Given the description of an element on the screen output the (x, y) to click on. 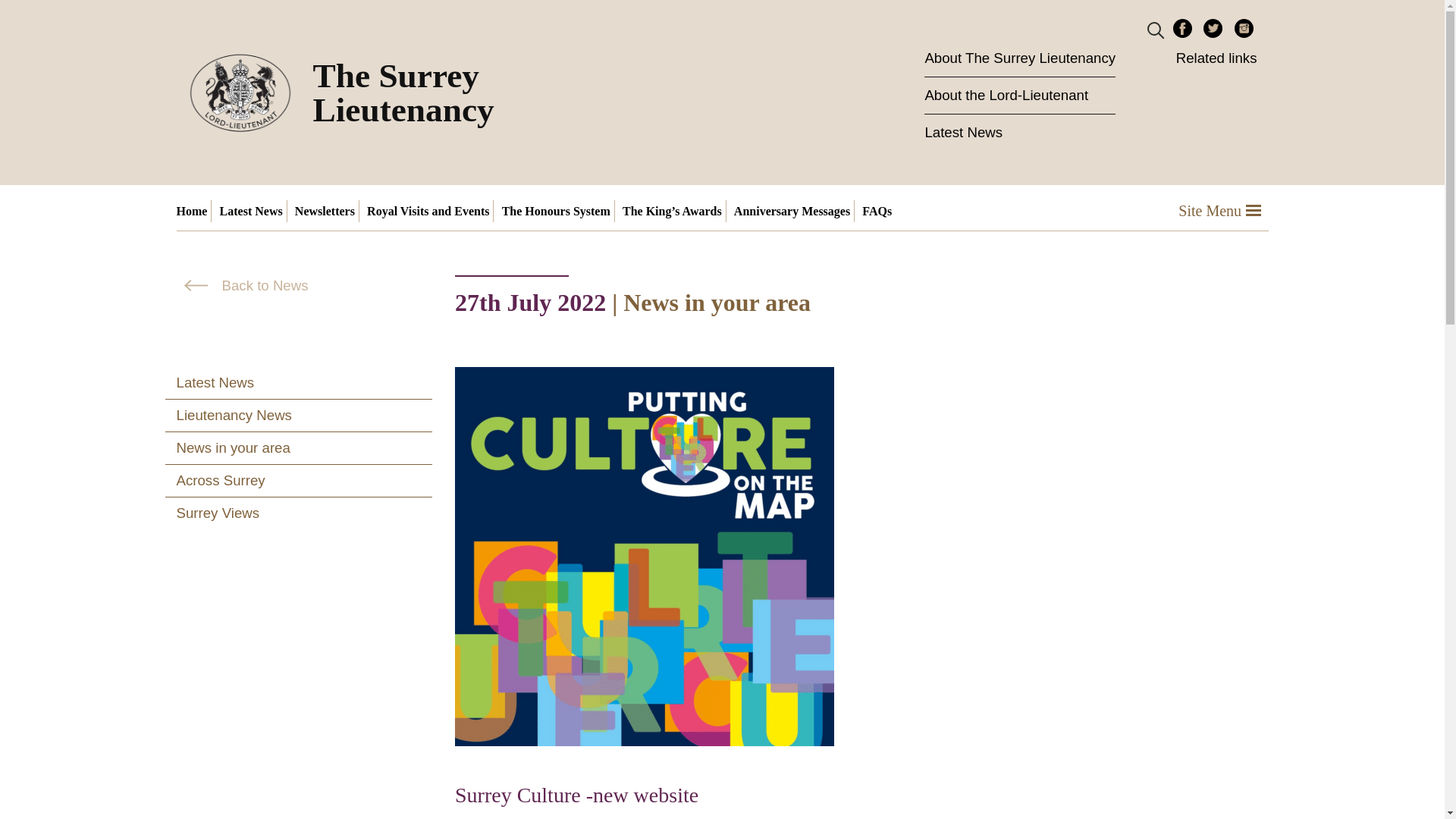
About The Surrey Lieutenancy (1019, 58)
Latest News (250, 210)
Surrey Lieutenancy Latest News (250, 210)
Surrey Lieutenancy Home (193, 210)
The Honours System (555, 210)
About the Lord-Lieutenant (1019, 94)
Newsletters (325, 210)
FAQs (877, 210)
Surrey Lieutenancy Related links (1216, 58)
Anniversary Messages (792, 210)
About Surrey Lieutenancy (1019, 58)
Facebook (1182, 27)
The Surrey Lieutenancy (358, 93)
Surrey Lieutenancy About the Lord-Lieutenant (1019, 94)
Surrey Lieutenancy Latest News (1019, 132)
